Given the description of an element on the screen output the (x, y) to click on. 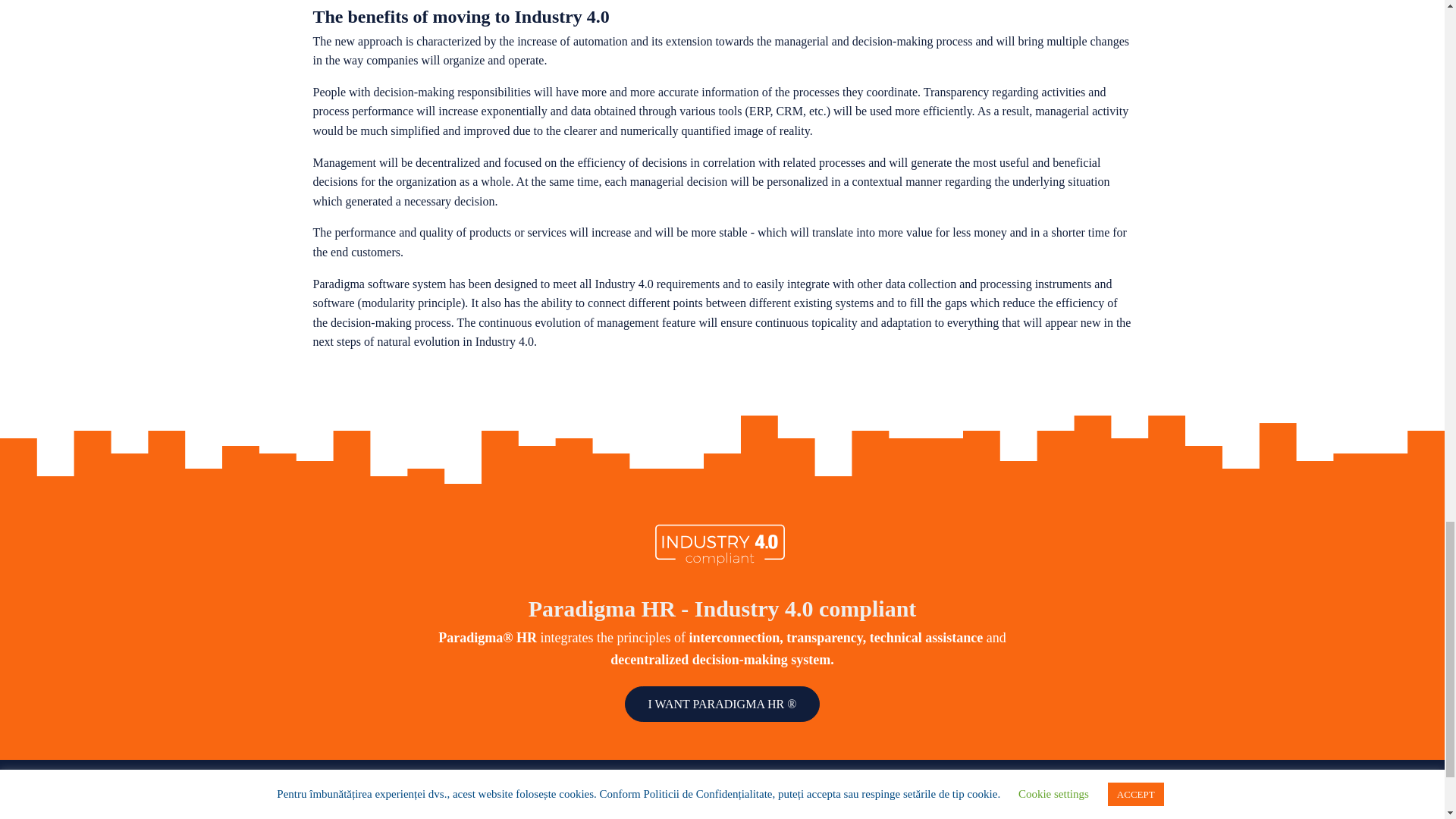
Become a partner (1075, 799)
Discover (598, 814)
Industries (824, 801)
Contact (1099, 813)
Home (592, 801)
Benefits (821, 814)
